Given the description of an element on the screen output the (x, y) to click on. 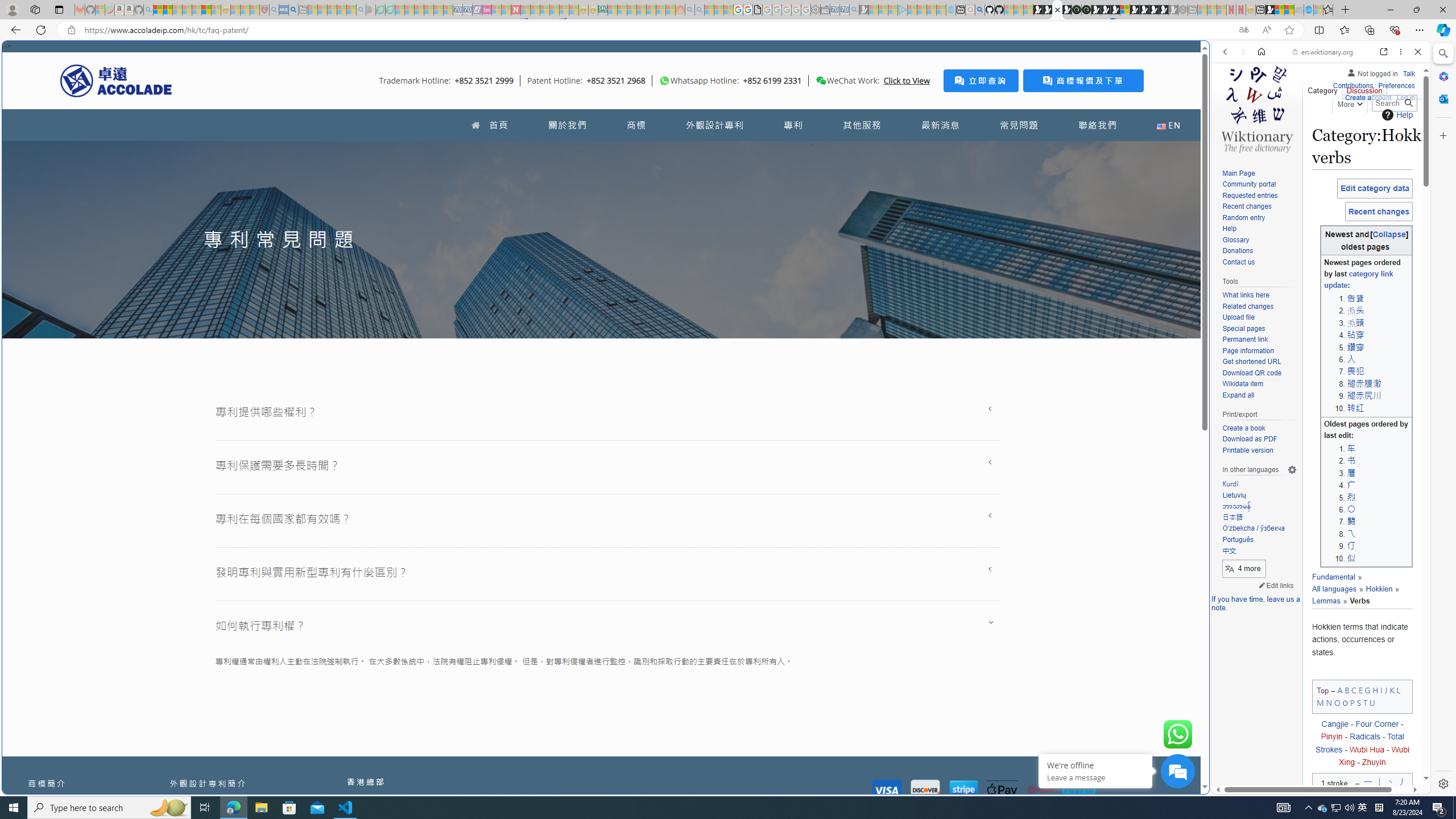
1 stroke (1334, 786)
Page information (1259, 351)
Permanent link (1244, 339)
Recent changes (1246, 206)
Printable version (1259, 450)
Category (1322, 87)
Discussion (1363, 87)
